Given the description of an element on the screen output the (x, y) to click on. 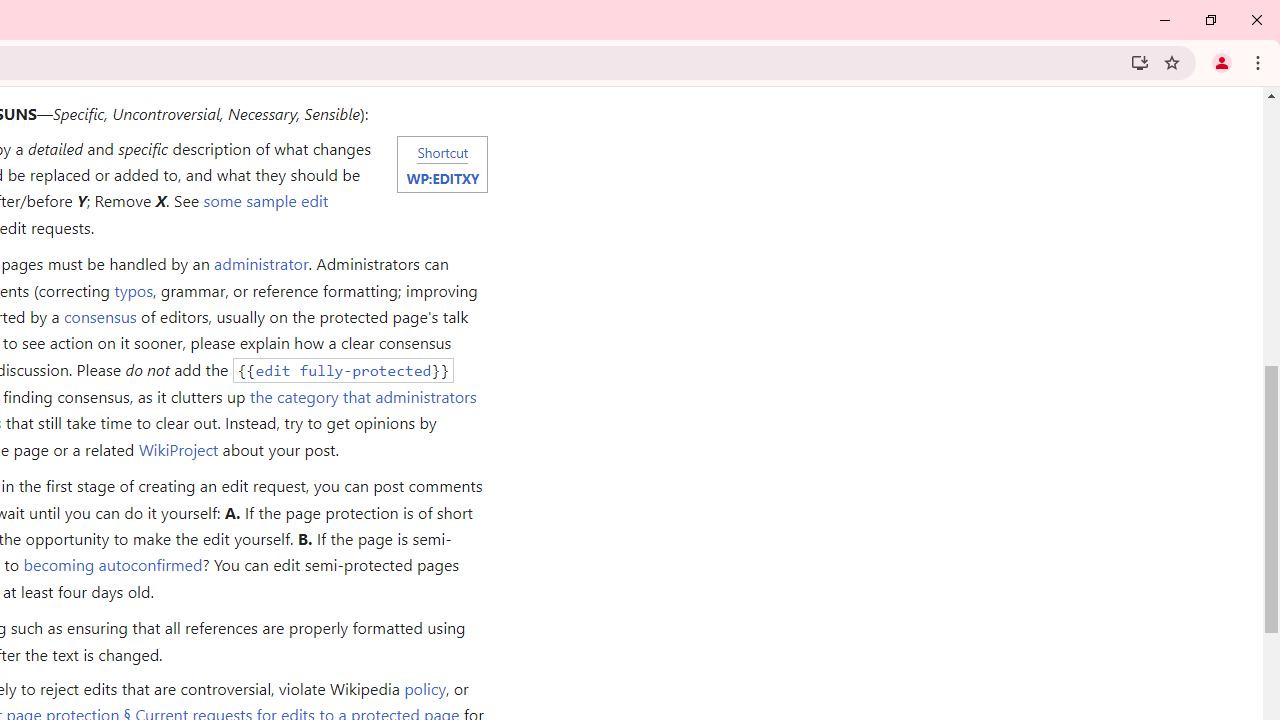
Shortcut (442, 151)
policy (424, 687)
WikiProject (178, 448)
Install Wikipedia (1139, 62)
becoming autoconfirmed (113, 564)
WP:EDITXY (441, 177)
edit fully-protected (343, 370)
consensus (99, 315)
administrator (260, 263)
typos (133, 289)
